Given the description of an element on the screen output the (x, y) to click on. 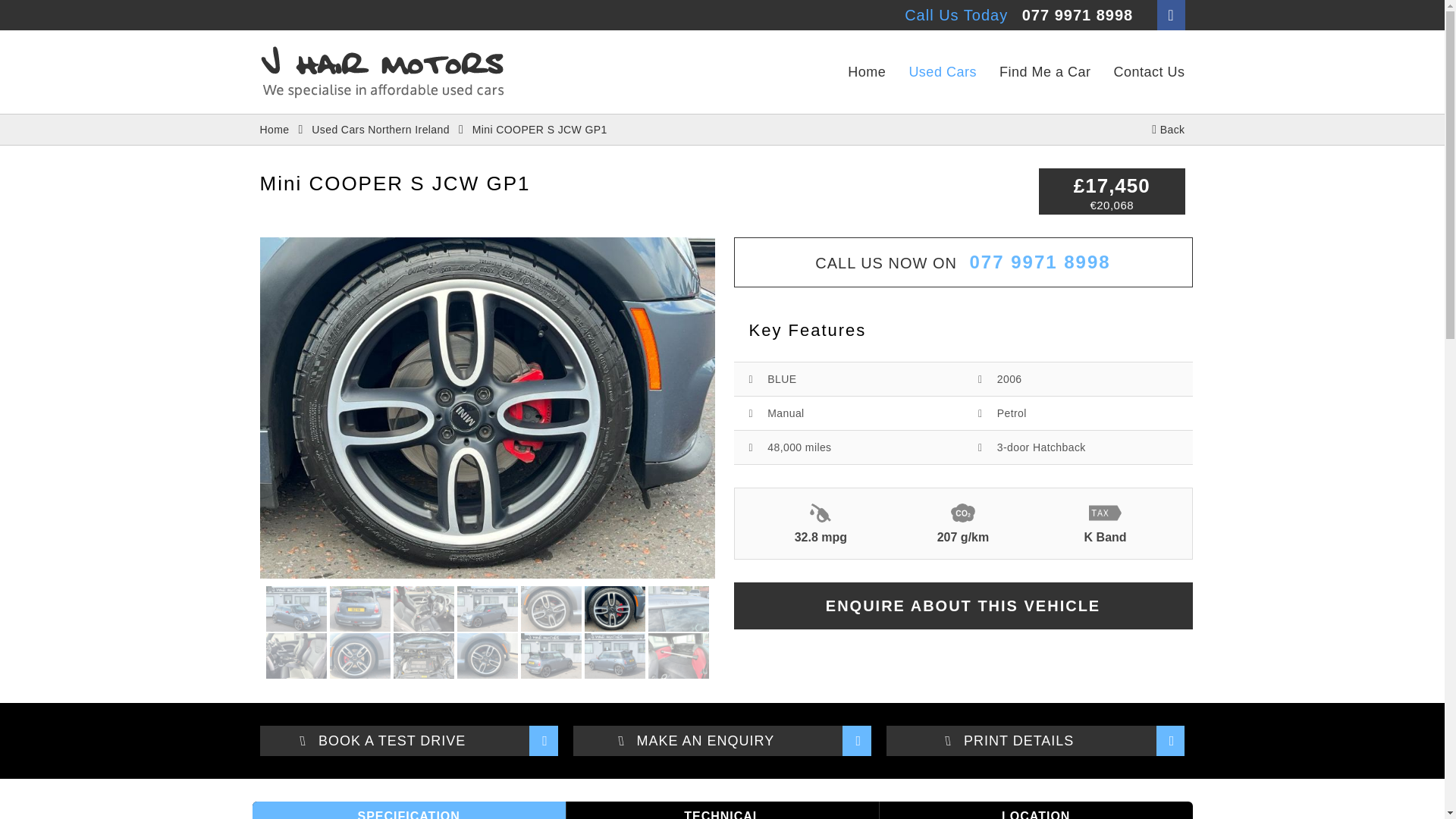
Home (273, 129)
Used Cars Northern Ireland (380, 129)
Mini COOPER S JCW GP1 (539, 129)
Find Me a Car (1044, 71)
077 9971 8998 (1077, 14)
Back (1168, 129)
